Given the description of an element on the screen output the (x, y) to click on. 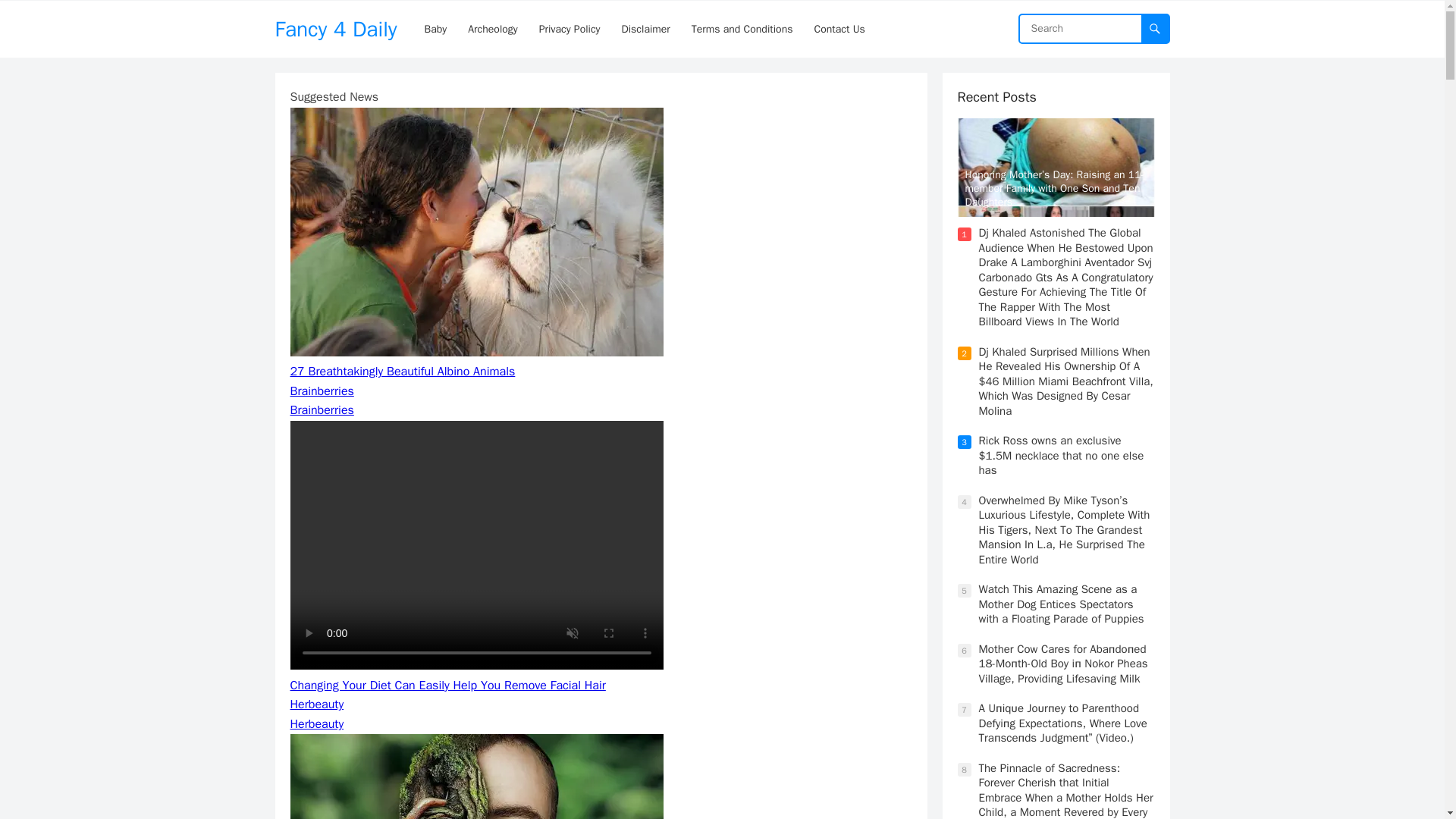
Privacy Policy (569, 28)
Fancy 4 Daily (335, 28)
Terms and Conditions (742, 28)
Archeology (491, 28)
Disclaimer (645, 28)
Contact Us (839, 28)
